Given the description of an element on the screen output the (x, y) to click on. 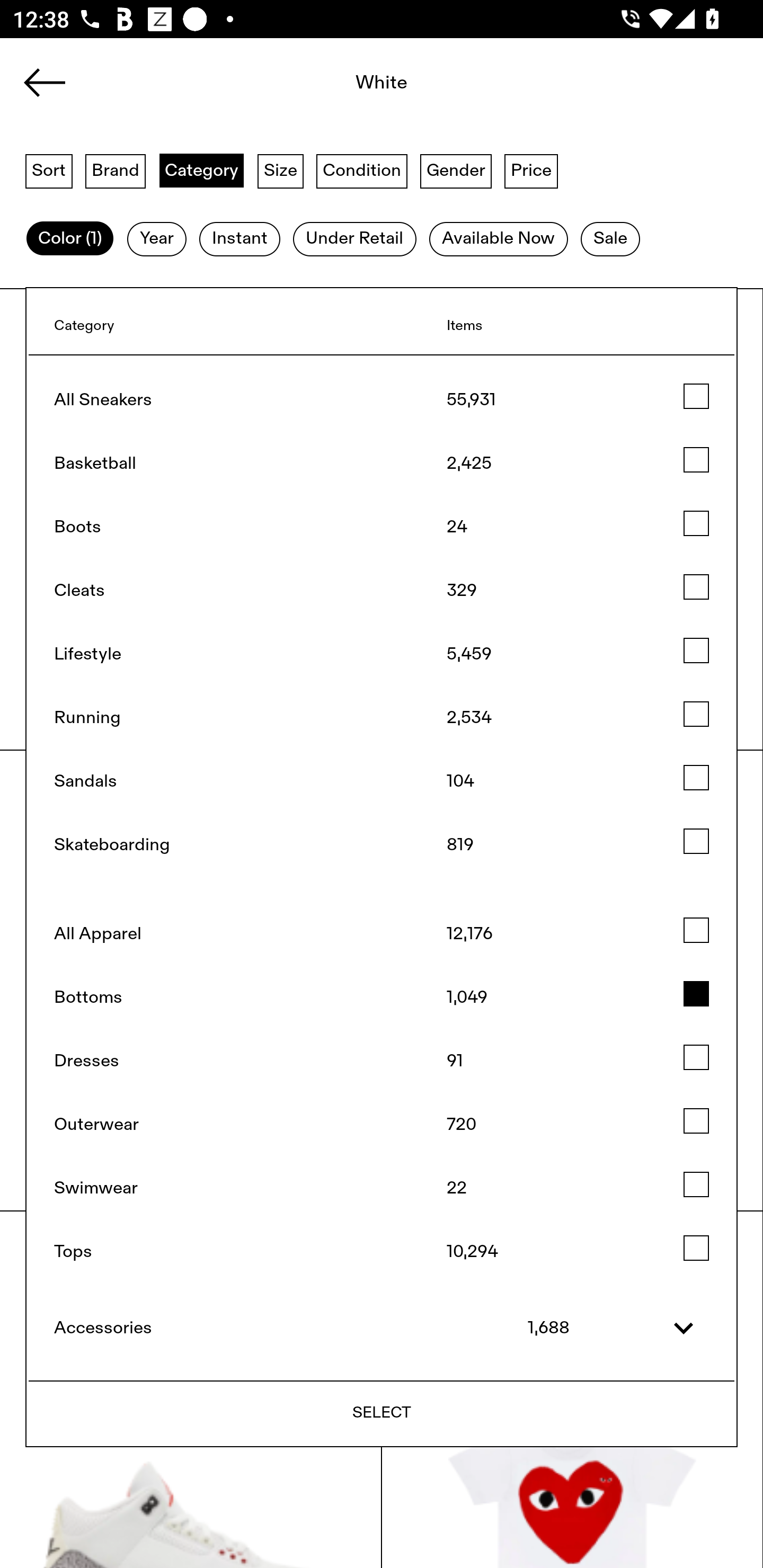
Sort (48, 170)
Brand (115, 170)
Category (201, 170)
Size (280, 170)
Condition (361, 170)
Gender (455, 170)
Price (530, 170)
Color (1) (69, 239)
Year (156, 239)
Instant (239, 239)
Under Retail (354, 239)
Available Now (497, 239)
Sale (610, 239)
Basketball 2,425 (381, 463)
Boots 24 (381, 526)
Cleats 329 (381, 590)
Lifestyle 5,459 (381, 654)
Running 2,534 (381, 717)
Sandals 104 (381, 781)
Skateboarding 819 (381, 844)
Bottoms 1,049 (381, 996)
Dresses 91 (381, 1060)
Outerwear 720 (381, 1124)
Swimwear 22 (381, 1188)
Tops 10,294 (381, 1251)
Accessories 1,688 (381, 1327)
SELECT (381, 1412)
